Given the description of an element on the screen output the (x, y) to click on. 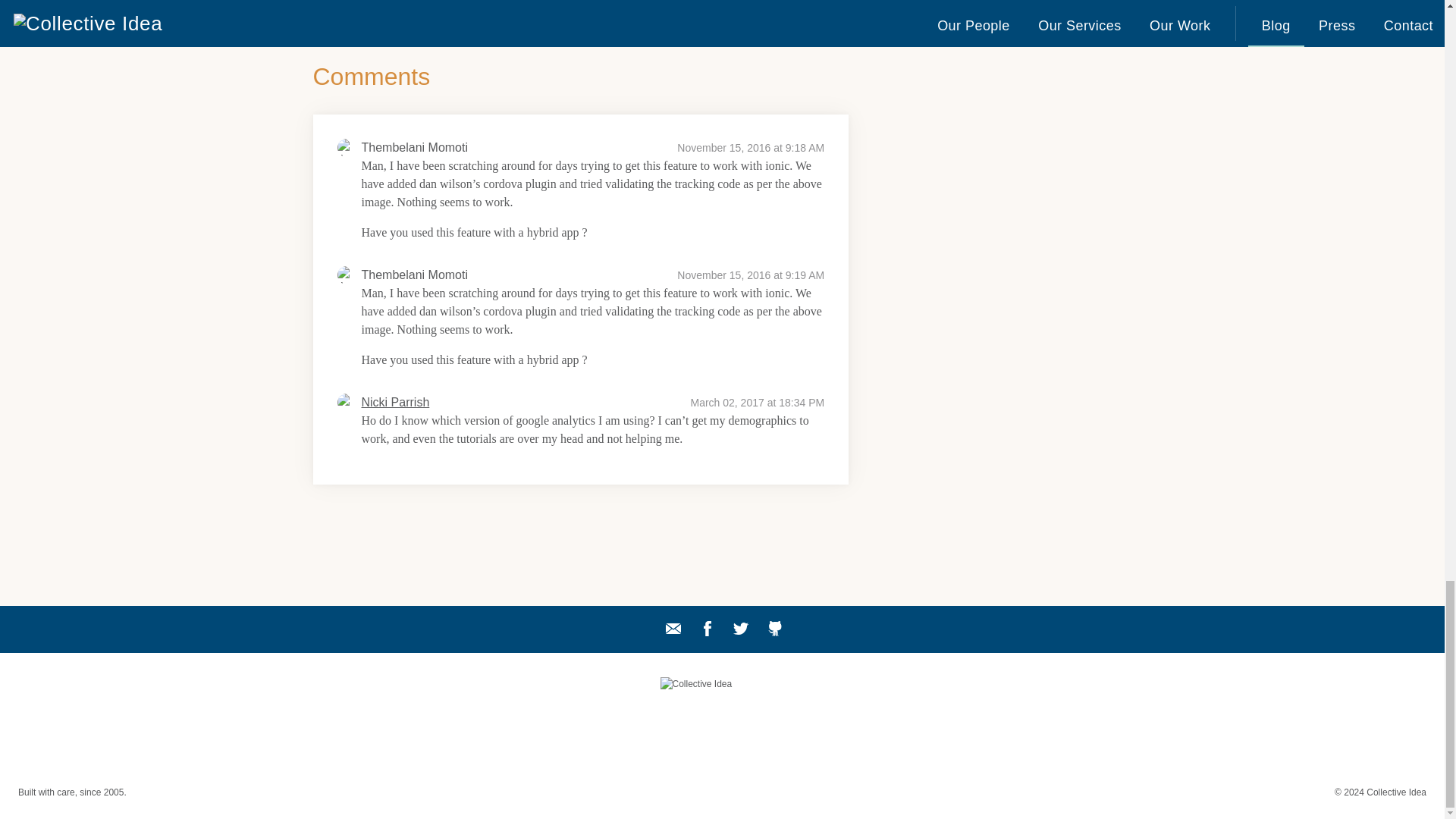
Nicki Parrish (395, 402)
